Given the description of an element on the screen output the (x, y) to click on. 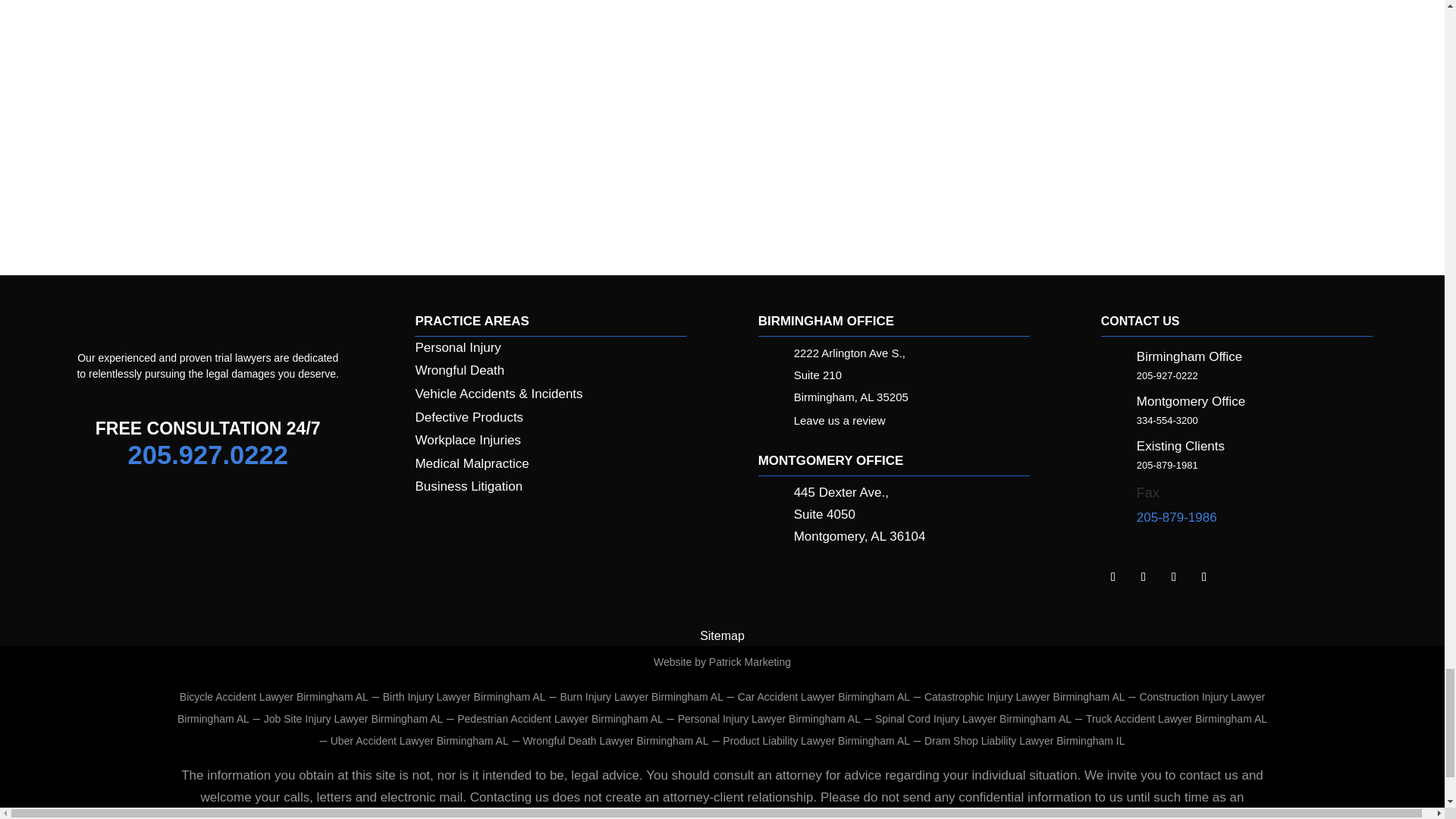
Follow on X (1173, 576)
Follow on Youtube (1203, 576)
Follow on Facebook (1143, 576)
Follow on LinkedIn (1112, 576)
